Given the description of an element on the screen output the (x, y) to click on. 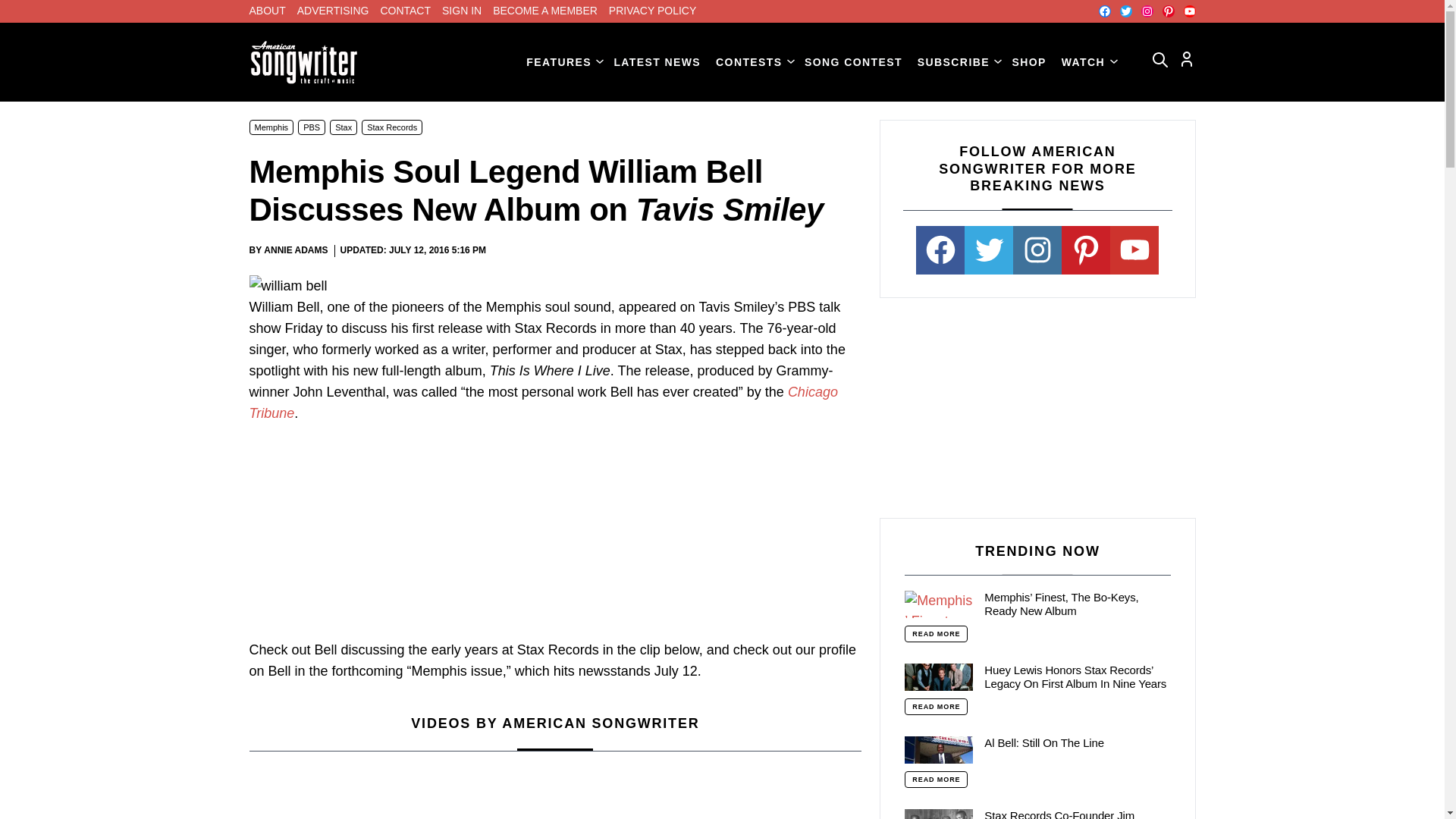
July 12, 2016 5:16 pm (437, 250)
Twitter (1125, 10)
Facebook (1103, 10)
Pinterest (1167, 10)
ADVERTISING (333, 10)
PRIVACY POLICY (651, 10)
YouTube (1188, 10)
SIGN IN (461, 10)
Posts by Annie Adams (295, 249)
Instagram (1146, 10)
BECOME A MEMBER (544, 10)
ABOUT (266, 10)
CONTACT (405, 10)
